Given the description of an element on the screen output the (x, y) to click on. 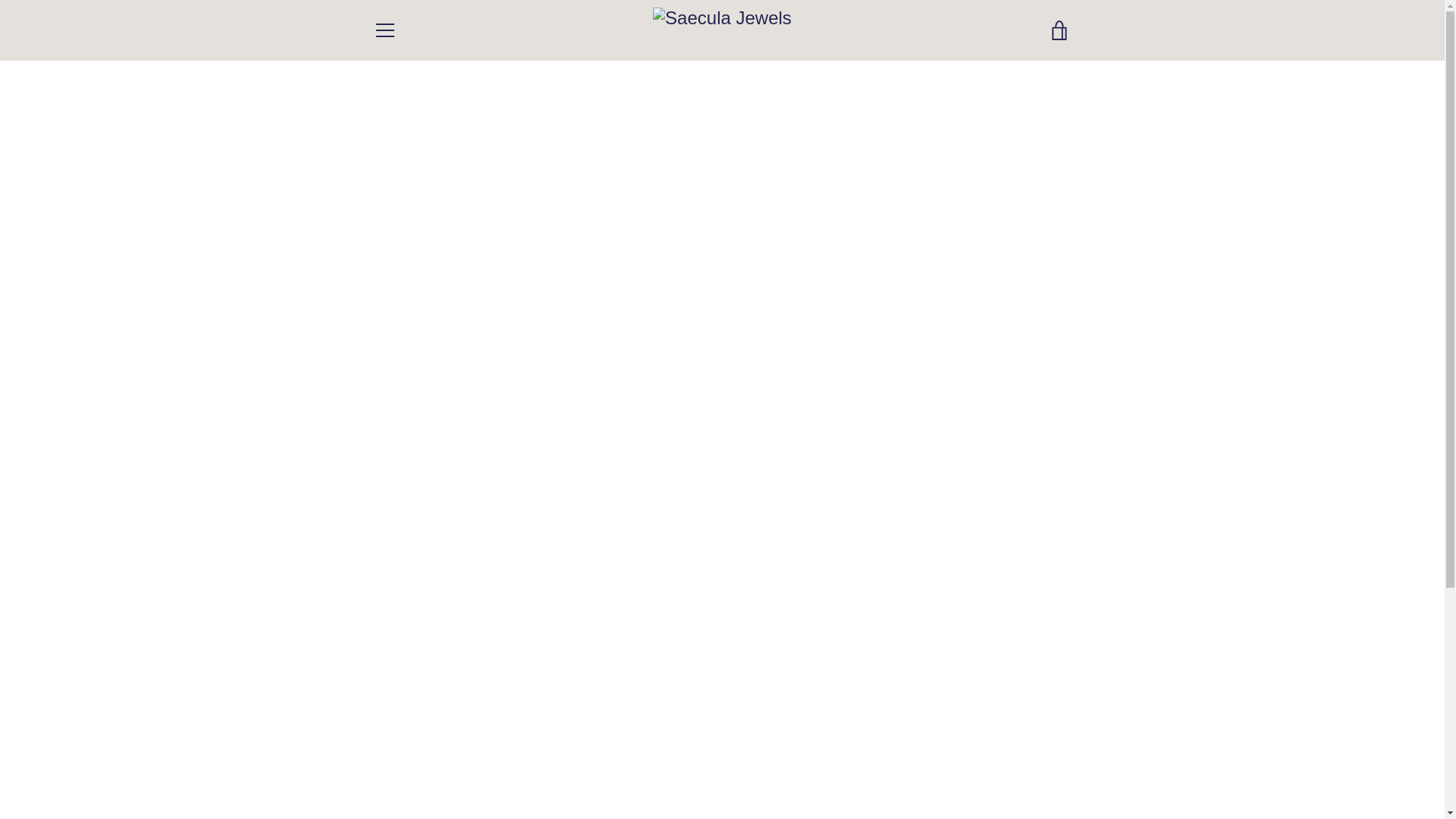
MENU (384, 30)
